Given the description of an element on the screen output the (x, y) to click on. 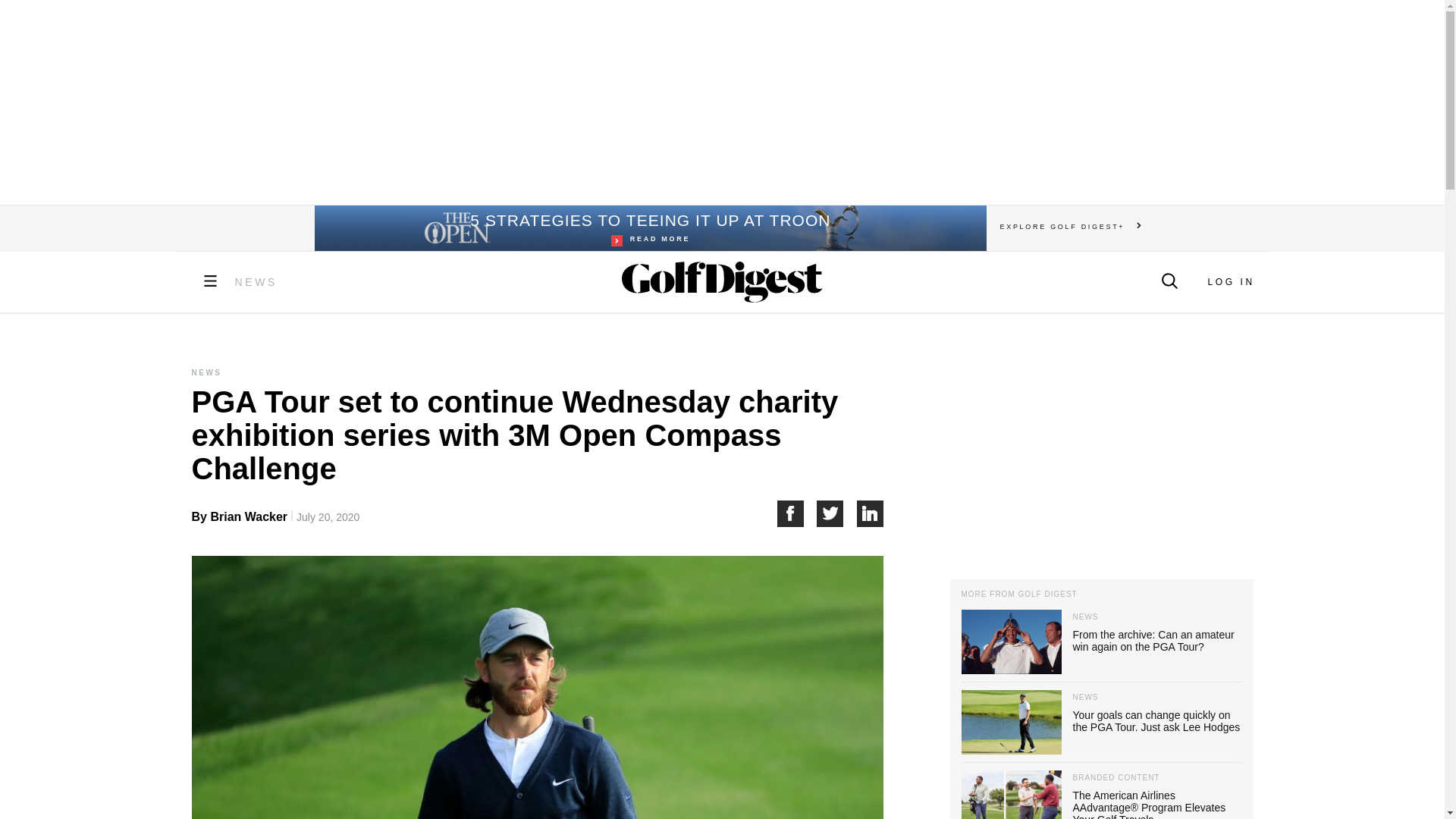
Share on LinkedIn (870, 513)
LOG IN (1230, 281)
Share on Twitter (836, 513)
3rd party ad content (721, 101)
Share on Facebook (796, 513)
NEWS (649, 227)
